Given the description of an element on the screen output the (x, y) to click on. 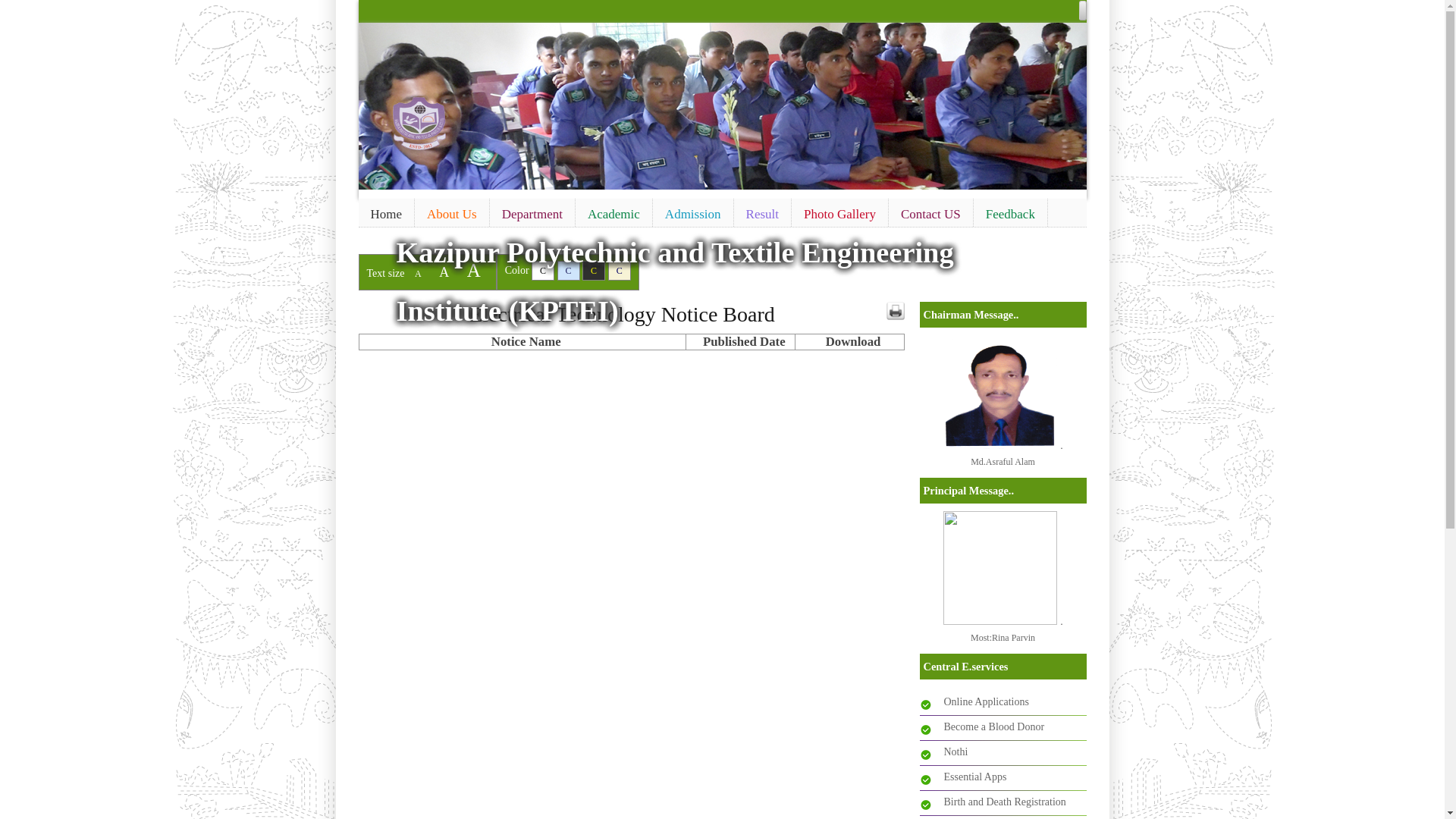
Contact US Element type: text (930, 214)
Academic Element type: text (613, 214)
Next Element type: text (1071, 103)
C Element type: text (619, 270)
C Element type: text (568, 270)
Previous Element type: text (371, 103)
Essential Apps Element type: text (974, 776)
A Element type: text (473, 270)
Md.Asraful Alam Element type: text (1002, 461)
Online Applications Element type: text (985, 701)
Birth and Death Registration Element type: text (1004, 801)
Photo Gallery Element type: text (839, 214)
Become a Blood Donor Element type: text (993, 726)
About Us Element type: text (451, 214)
Home Element type: text (385, 214)
C Element type: text (542, 270)
Most:Rina Parvin Element type: text (1002, 637)
A Element type: text (443, 271)
Result Element type: text (762, 214)
Admission Element type: text (692, 214)
Feedback Element type: text (1010, 214)
A Element type: text (418, 273)
Nothi Element type: text (955, 751)
Department Element type: text (531, 214)
Print Element type: hover (894, 310)
C Element type: text (593, 270)
